Given the description of an element on the screen output the (x, y) to click on. 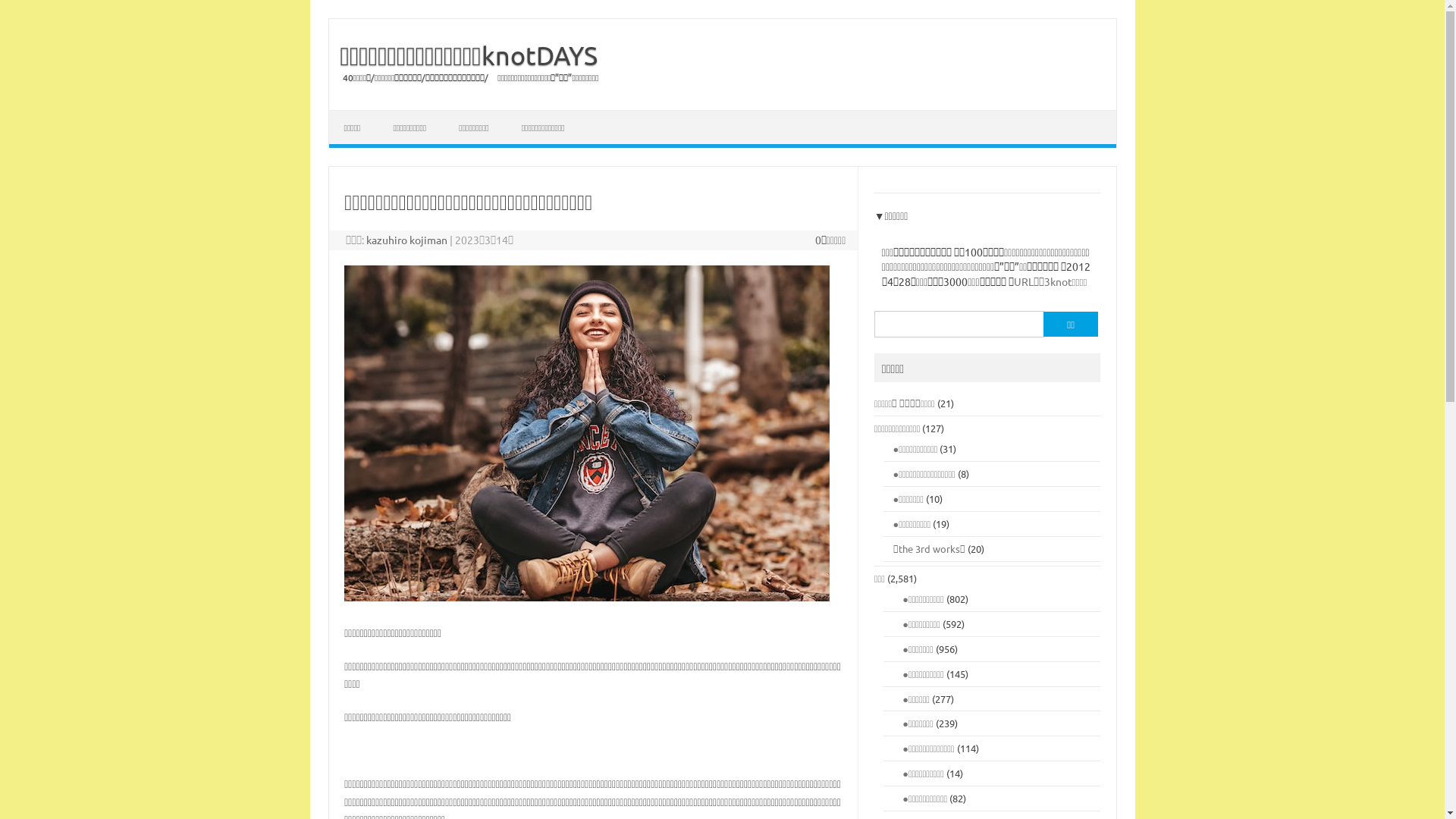
kazuhiro kojiman Element type: text (406, 239)
